Given the description of an element on the screen output the (x, y) to click on. 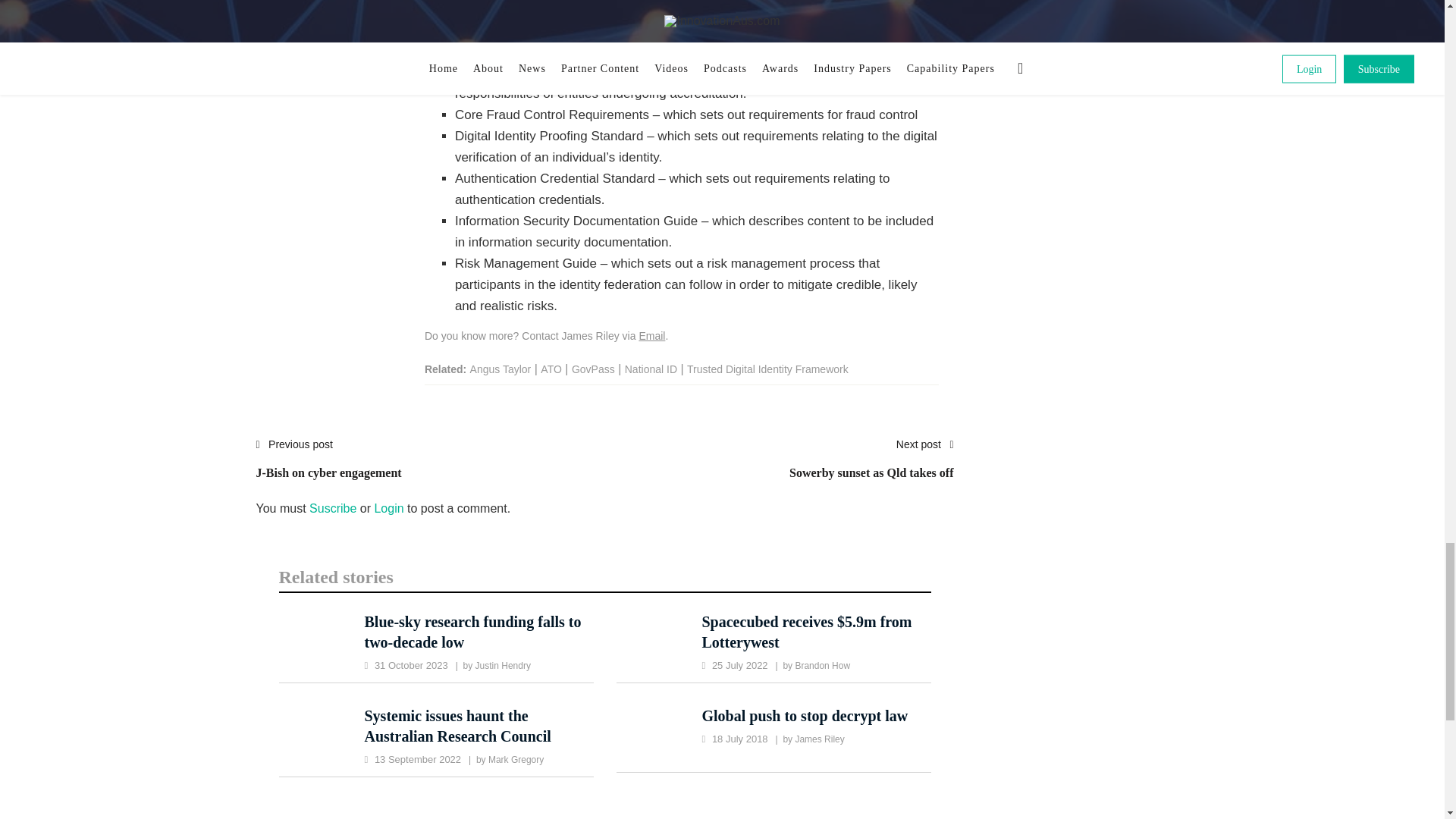
Angus Taylor (500, 369)
National ID (650, 369)
prev post (328, 467)
ATO (871, 467)
next post (551, 369)
Suscribe (871, 467)
GovPass (332, 508)
Trusted Digital Identity Framework (593, 369)
